Given the description of an element on the screen output the (x, y) to click on. 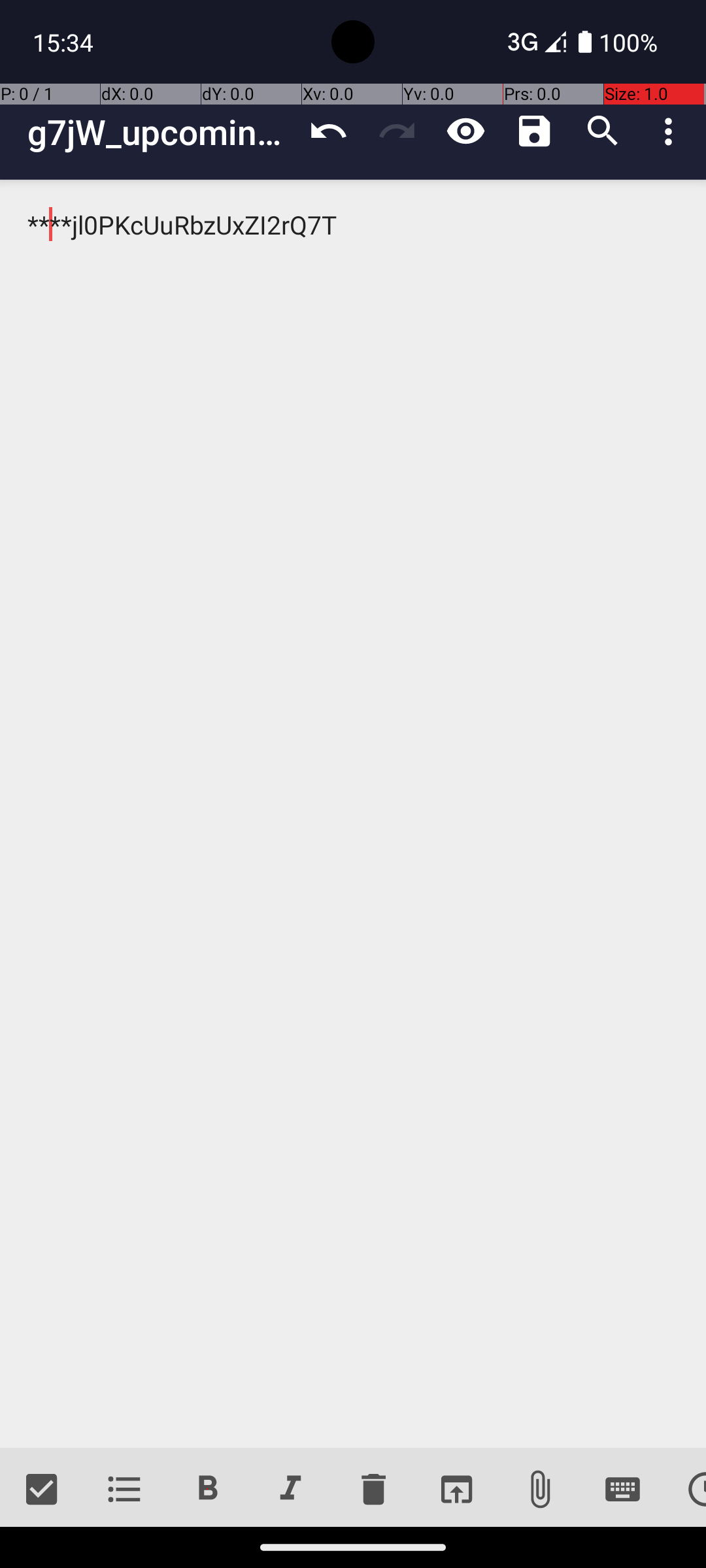
g7jW_upcoming_presentation_outline Element type: android.widget.TextView (160, 131)
****jl0PKcUuRbzUxZI2rQ7T
 Element type: android.widget.EditText (353, 813)
